Given the description of an element on the screen output the (x, y) to click on. 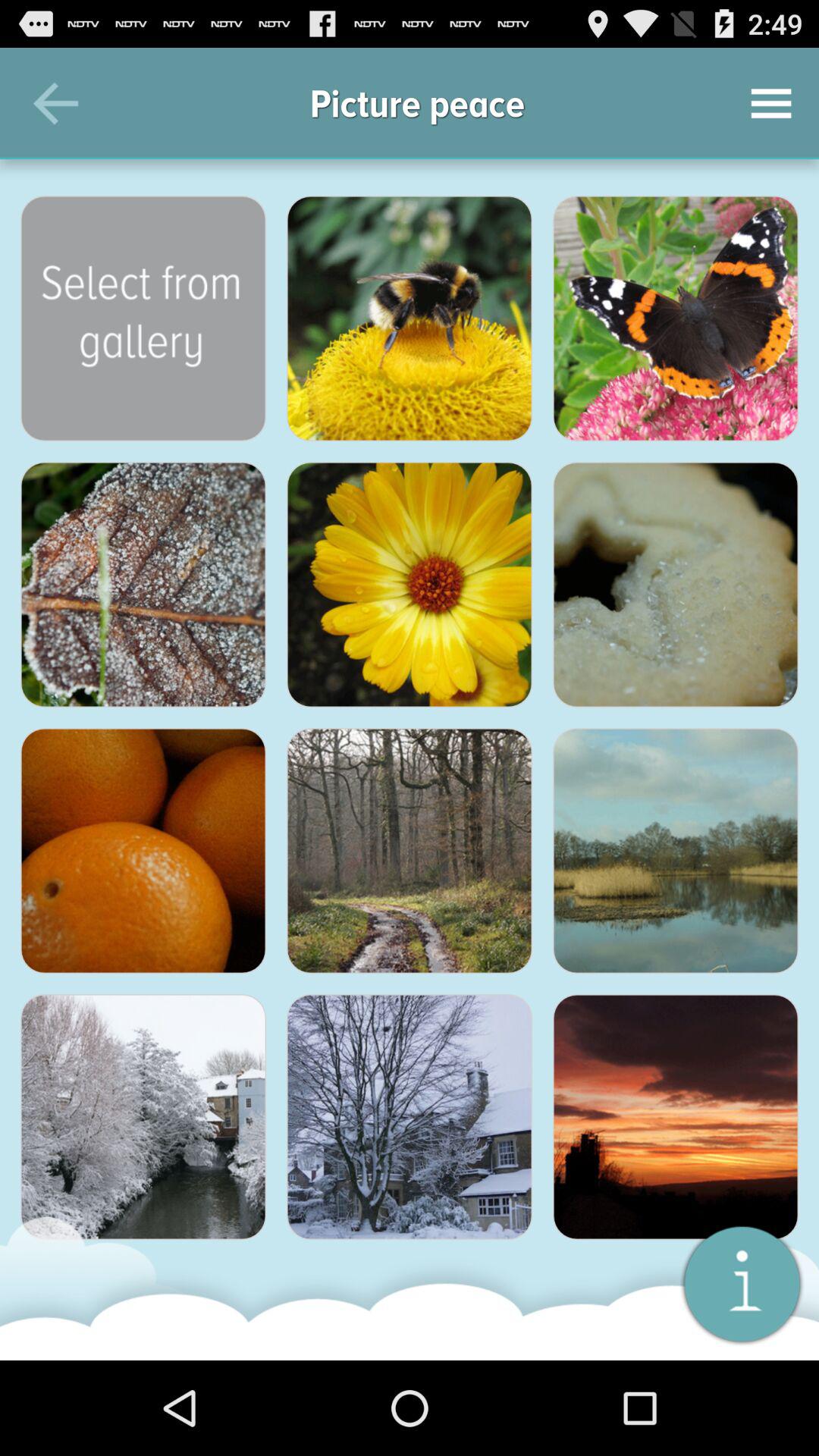
toggle picture option (675, 318)
